Given the description of an element on the screen output the (x, y) to click on. 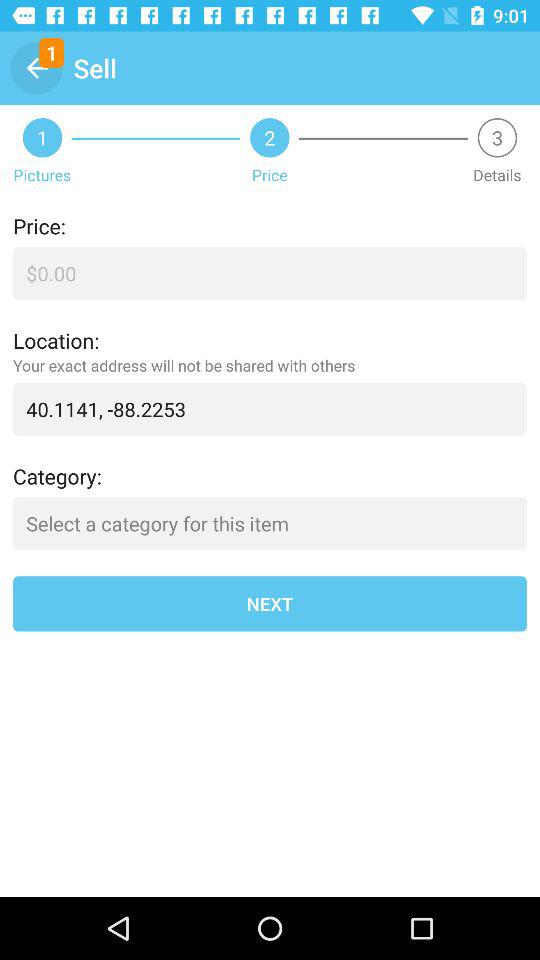
turn off item below category: item (269, 523)
